Given the description of an element on the screen output the (x, y) to click on. 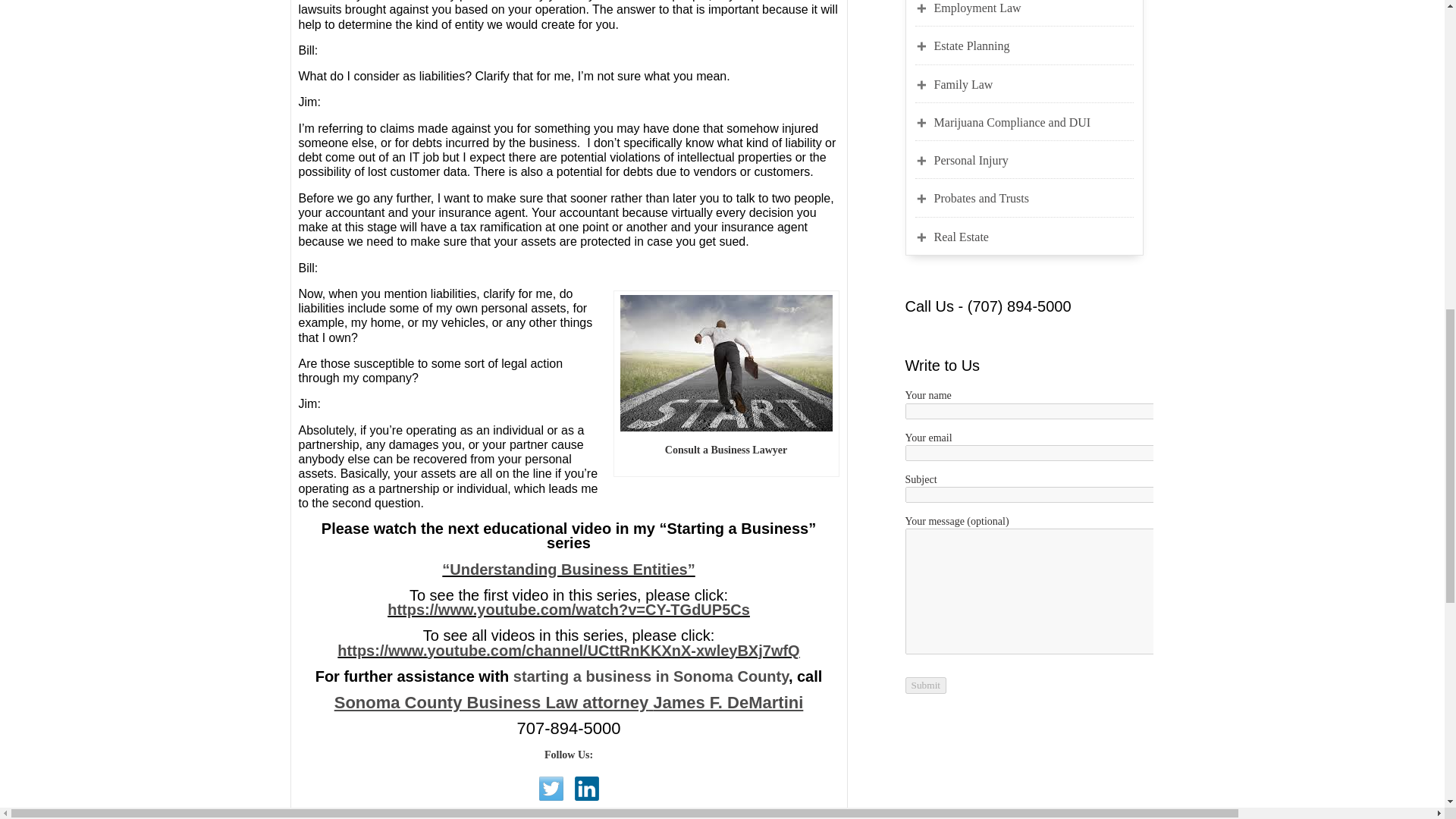
Follow us on Twitter (550, 788)
Submit (926, 684)
Find us on Linkedin (586, 788)
